Given the description of an element on the screen output the (x, y) to click on. 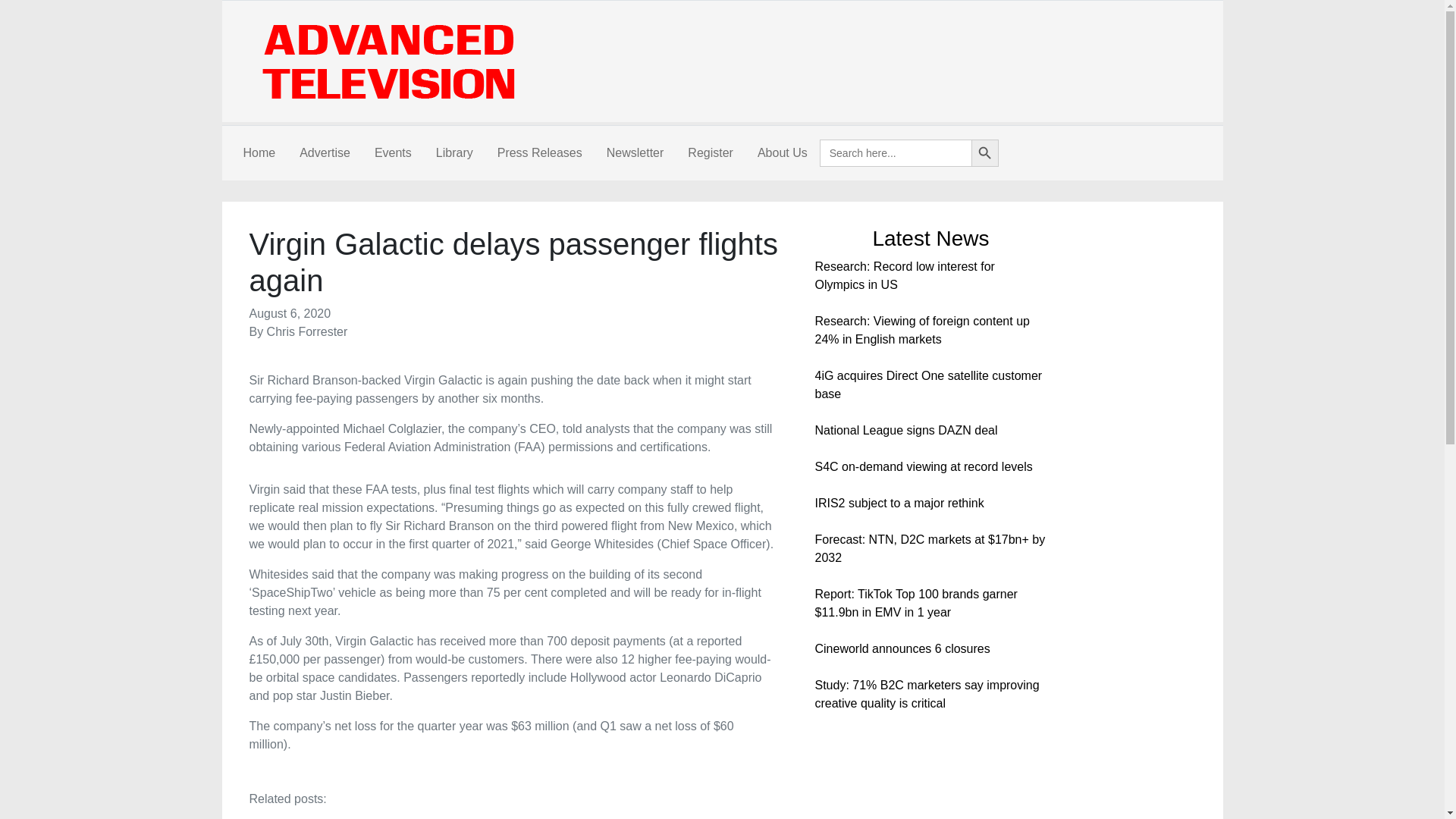
National League signs DAZN deal (905, 430)
About Us (782, 153)
Home (258, 153)
IRIS2 subject to a major rethink (898, 502)
Register (710, 153)
Press Releases (539, 153)
S4C on-demand viewing at record levels (922, 466)
Newsletter (635, 153)
Library (453, 153)
Search Button (984, 153)
Cineworld announces 6 closures (901, 648)
Events (392, 153)
Advertise (324, 153)
4iG acquires Direct One satellite customer base (927, 384)
Research: Record low interest for Olympics in US (903, 275)
